Given the description of an element on the screen output the (x, y) to click on. 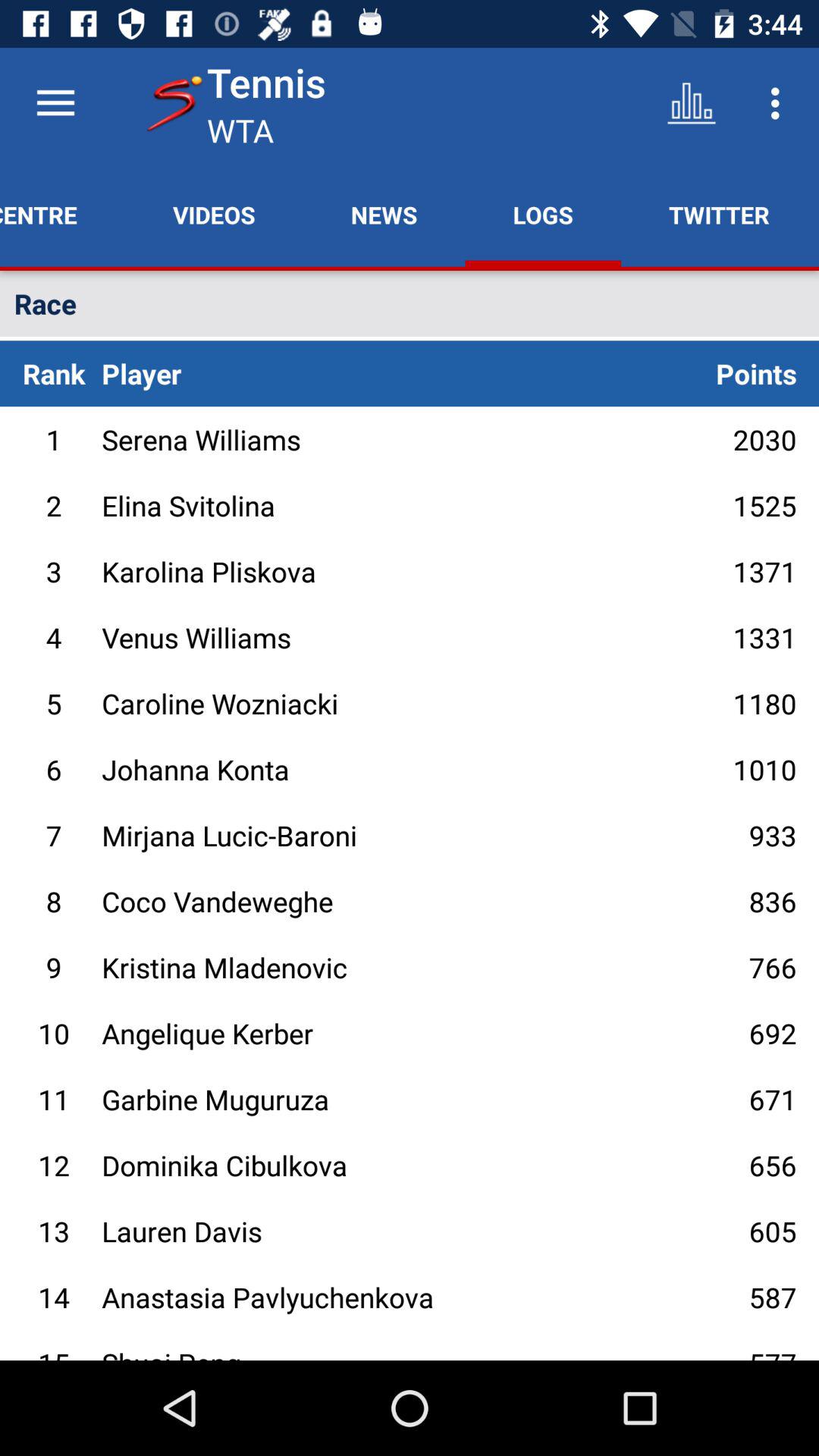
menu (55, 103)
